Given the description of an element on the screen output the (x, y) to click on. 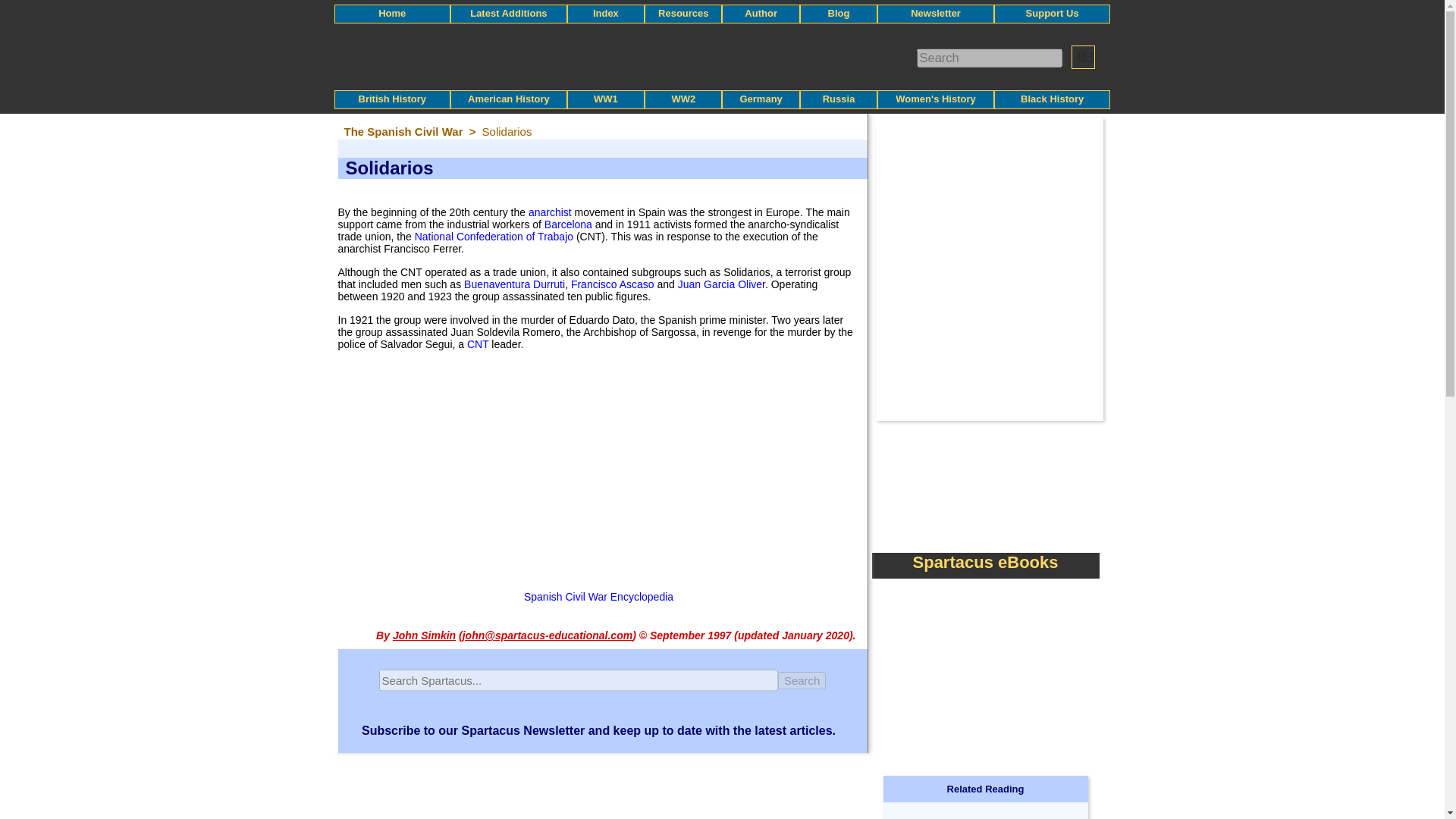
Author (760, 12)
Black History (1051, 98)
Search (802, 680)
Blog (839, 12)
Women's History (935, 98)
Germany (760, 98)
Search (802, 680)
British History (392, 98)
National Confederation of Trabajo (493, 236)
Francisco Ascaso (611, 284)
